Given the description of an element on the screen output the (x, y) to click on. 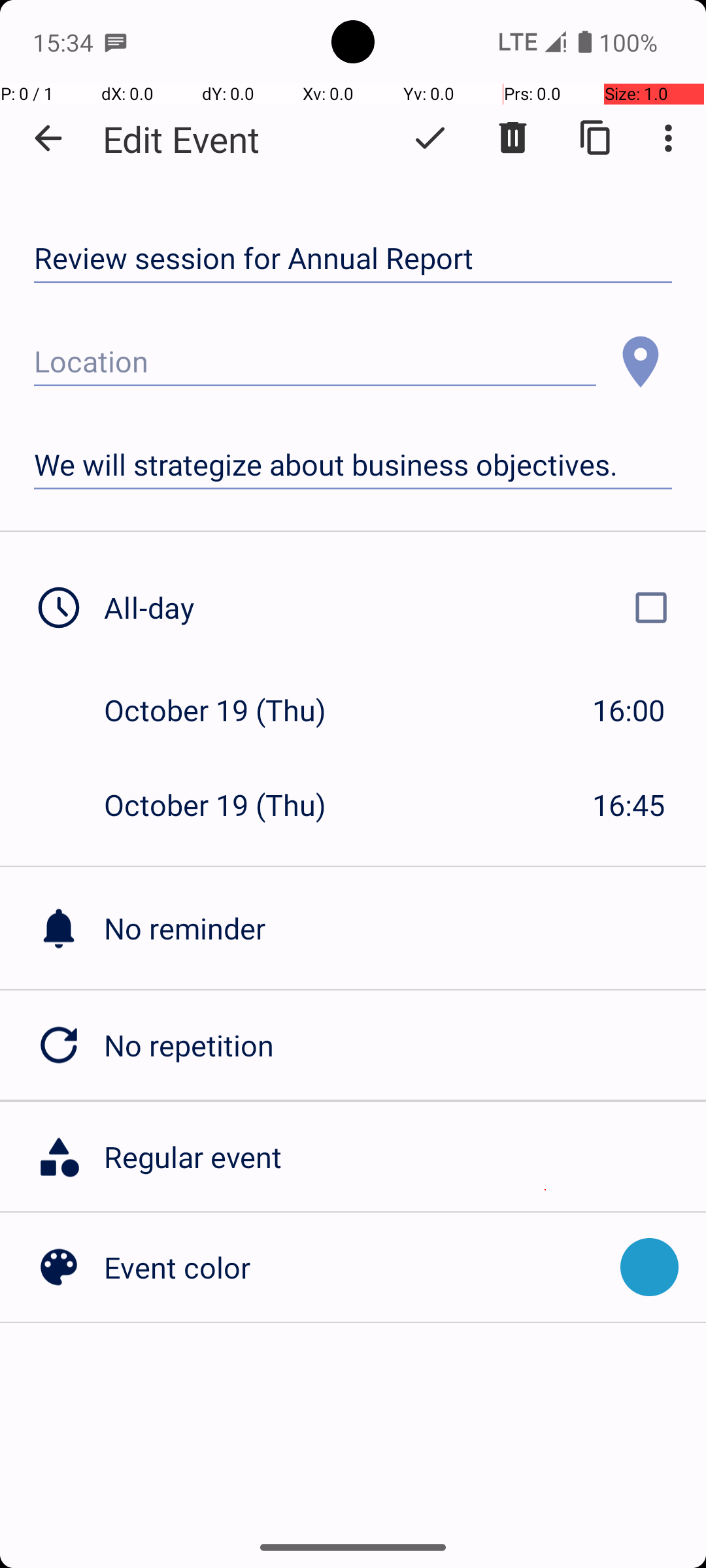
We will strategize about business objectives. Element type: android.widget.EditText (352, 465)
October 19 (Thu) Element type: android.widget.TextView (228, 709)
16:45 Element type: android.widget.TextView (628, 804)
